Given the description of an element on the screen output the (x, y) to click on. 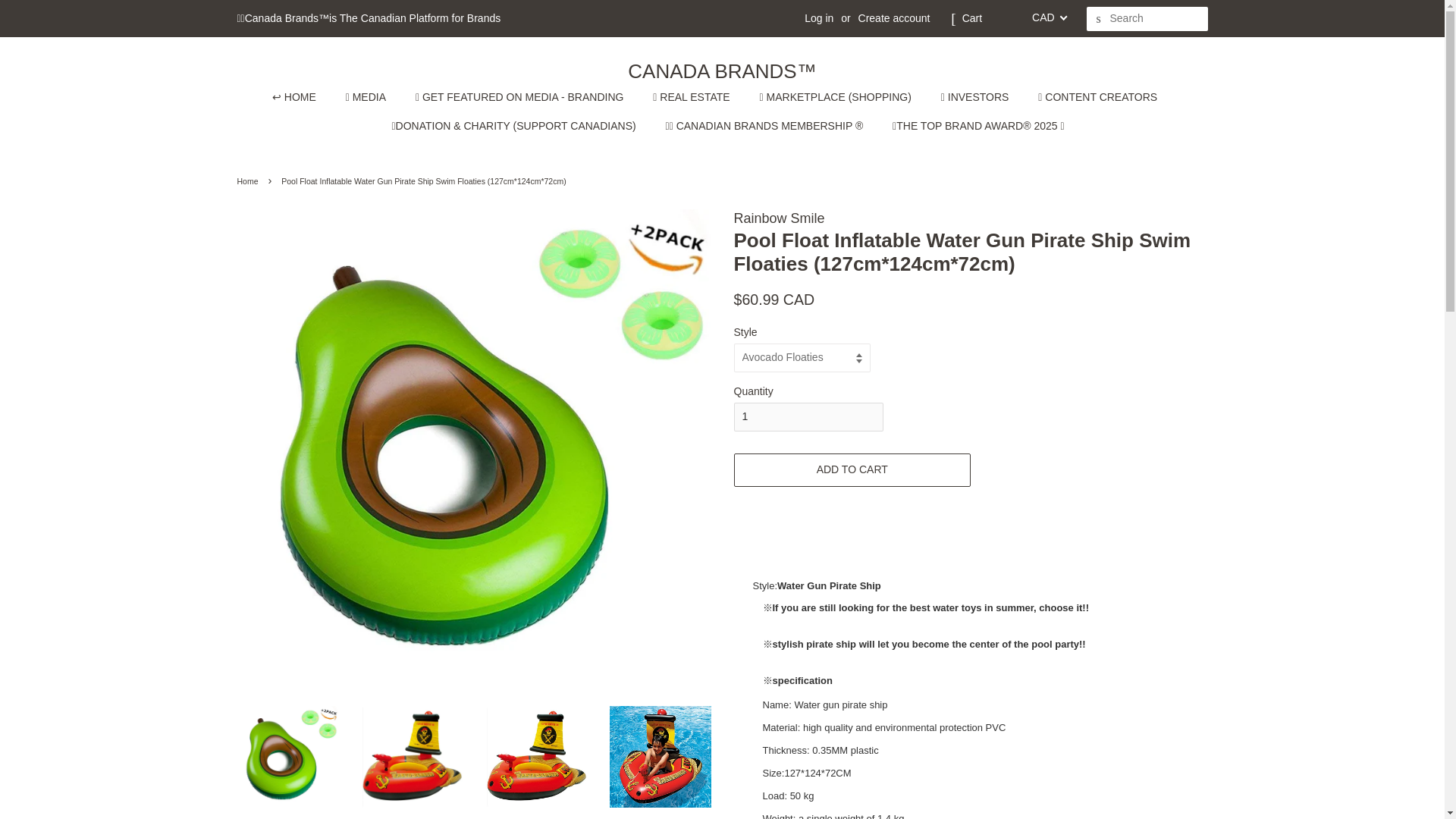
SEARCH (1097, 18)
Back to the frontpage (248, 180)
1 (808, 416)
Log in (818, 18)
Cart (971, 18)
Home (248, 180)
Create account (894, 18)
